Given the description of an element on the screen output the (x, y) to click on. 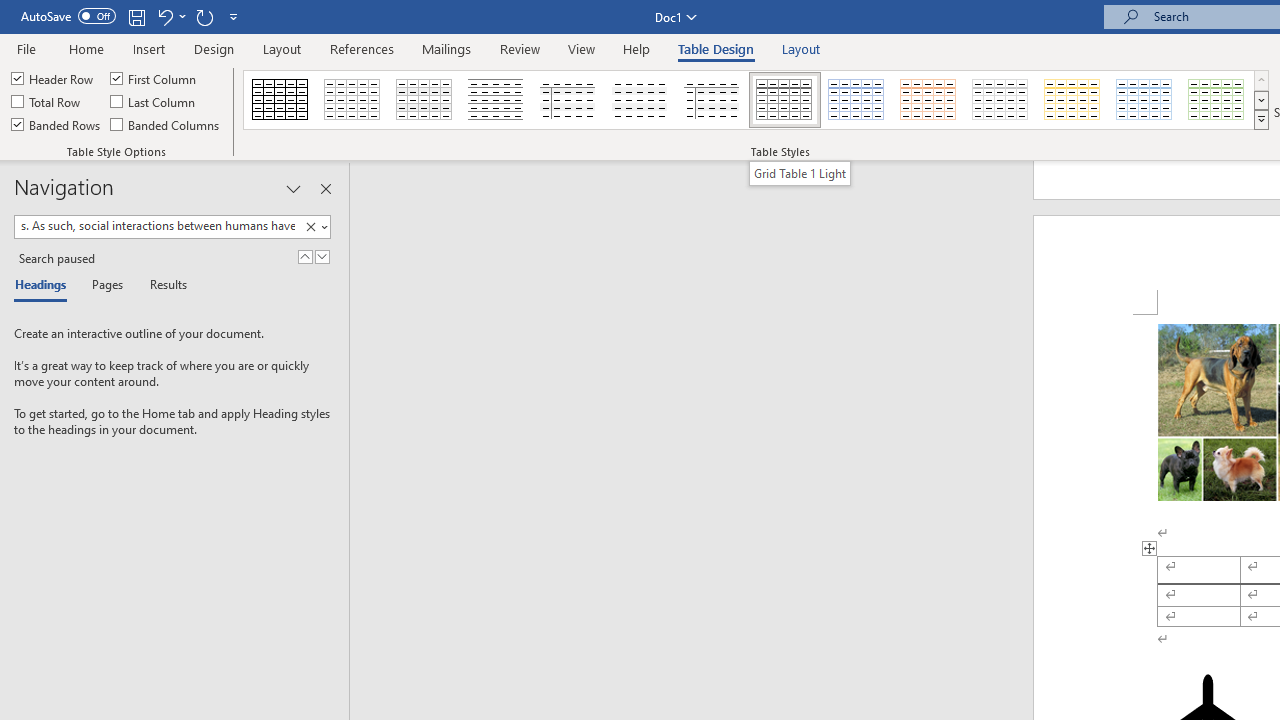
Previous Result (304, 256)
Table Grid (280, 100)
Header Row (53, 78)
First Column (155, 78)
Grid Table 1 Light - Accent 3 (1000, 100)
Clear (314, 227)
Banded Rows (57, 124)
